Given the description of an element on the screen output the (x, y) to click on. 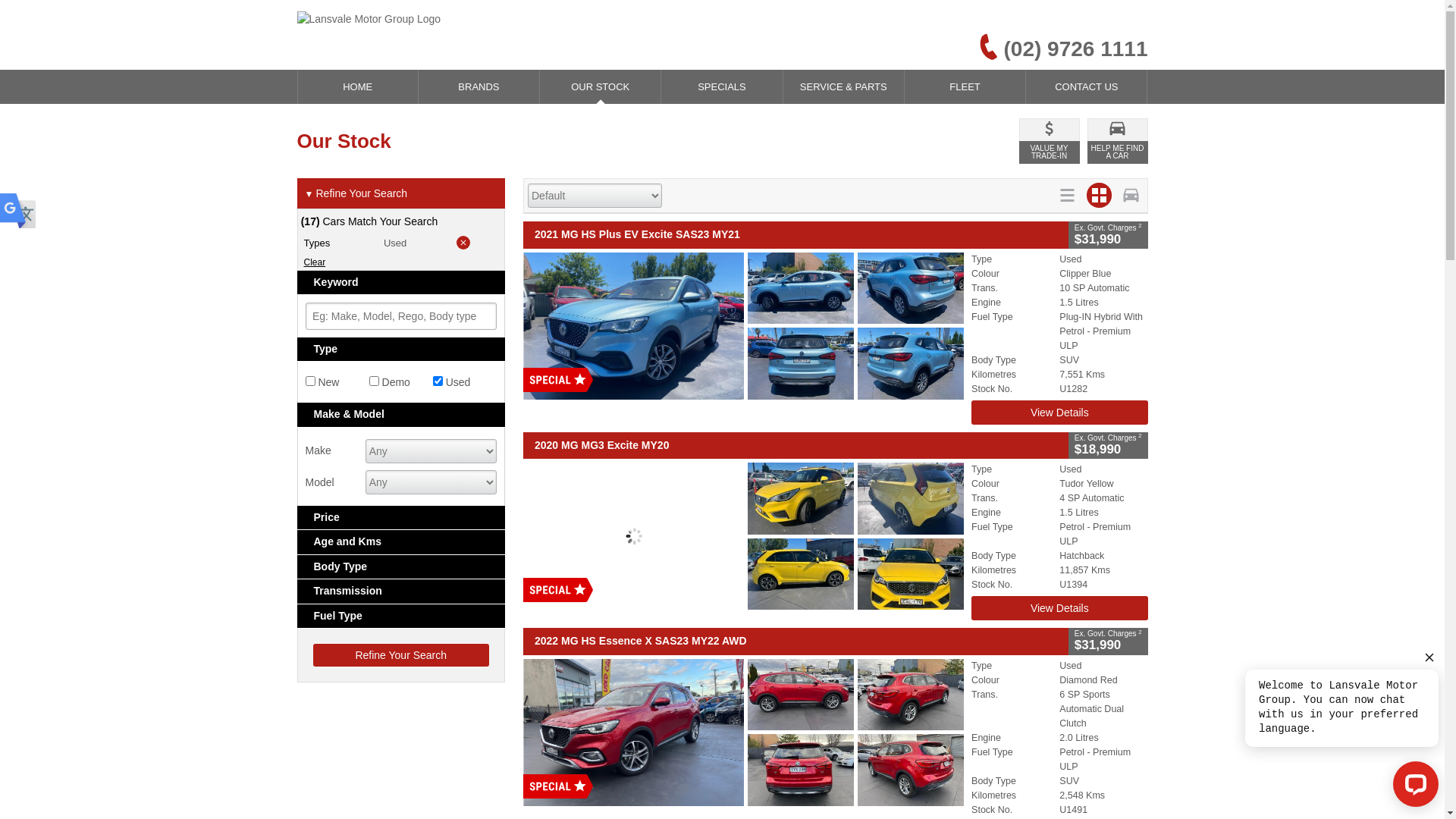
Refine Your Search Element type: text (400, 654)
2022 MG HS Essence X SAS23 MY22 AWD Element type: text (795, 640)
Body Type Element type: text (401, 566)
Clear Element type: text (400, 261)
2021 MG HS Plus EV Excite SAS23 MY21 Clipper Blue Element type: hover (743, 325)
2022 MG HS Essence X SAS23 MY22 AWD Diamond Red Element type: hover (743, 731)
BRANDS Element type: text (478, 86)
Type Element type: text (401, 348)
CONTACT US Element type: text (1086, 86)
Price Element type: text (401, 517)
Ex. Govt. Charges 2
$31,990 Element type: text (1108, 640)
HOME Element type: text (357, 86)
SERVICE & PARTS Element type: text (843, 86)
View Details Element type: text (1059, 412)
HELP ME FIND A CAR Element type: text (1117, 140)
Make & Model Element type: text (401, 414)
SPECIALS Element type: text (721, 86)
2020 MG MG3 Excite MY20 Element type: text (795, 445)
Fuel Type Element type: text (401, 615)
Ex. Govt. Charges 2
$18,990 Element type: text (1108, 445)
Age and Kms Element type: text (401, 541)
VALUE MY TRADE-IN Element type: text (1049, 140)
OUR STOCK Element type: text (599, 86)
2021 MG HS Plus EV Excite SAS23 MY21 Element type: text (795, 234)
(02) 9726 1111 Element type: text (1047, 46)
Ex. Govt. Charges 2
$31,990 Element type: text (1108, 234)
FLEET Element type: text (964, 86)
View Details Element type: text (1059, 608)
Keyword Element type: text (401, 282)
Transmission Element type: text (401, 590)
2020 MG MG3 Excite MY20 Tudor Yellow Element type: hover (743, 535)
